Given the description of an element on the screen output the (x, y) to click on. 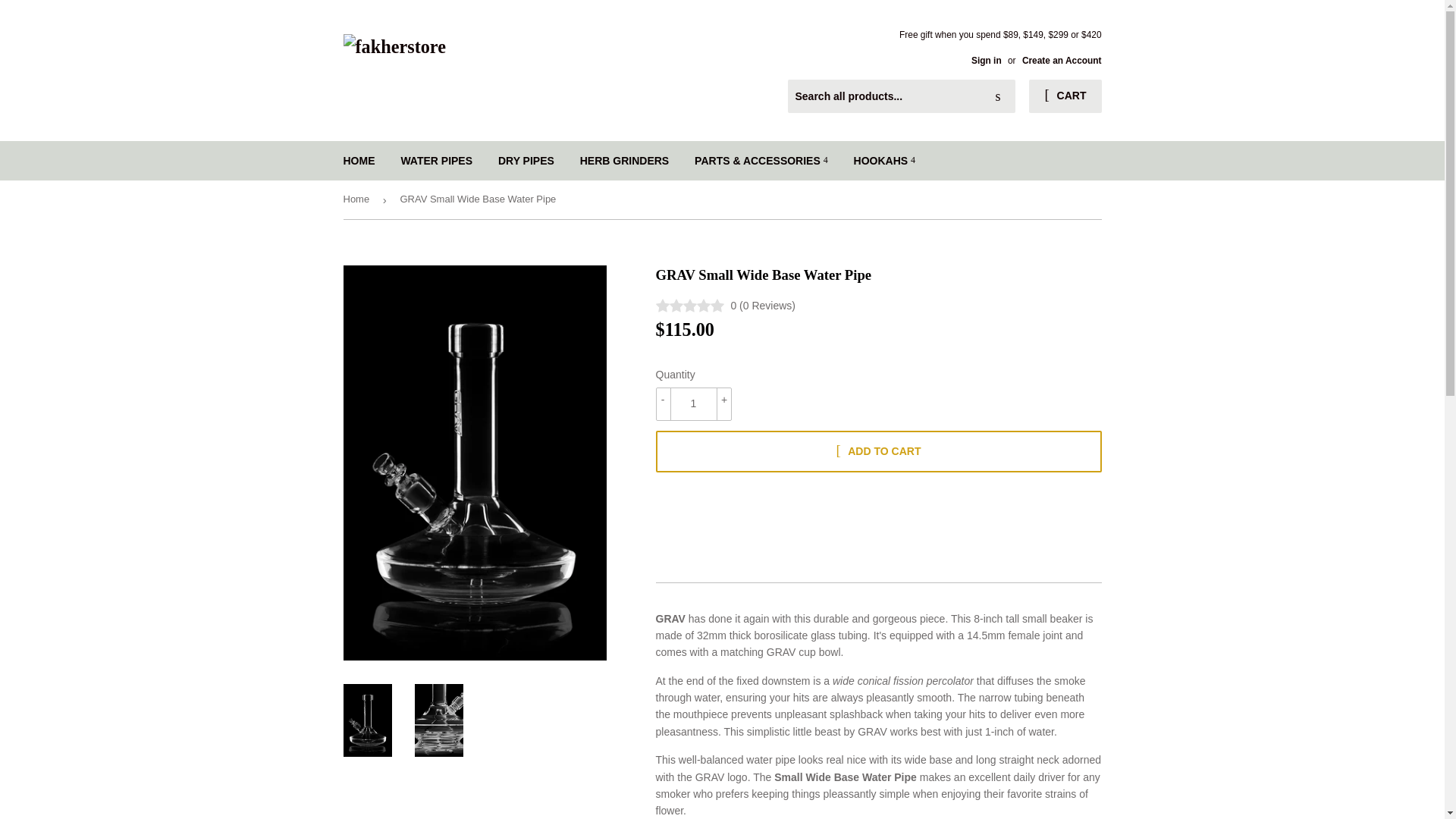
HOOKAHS (884, 160)
1 (692, 403)
Sign in (986, 60)
WATER PIPES (435, 160)
CART (1064, 96)
Create an Account (1062, 60)
HERB GRINDERS (624, 160)
Search (997, 97)
HOME (359, 160)
DRY PIPES (526, 160)
